Given the description of an element on the screen output the (x, y) to click on. 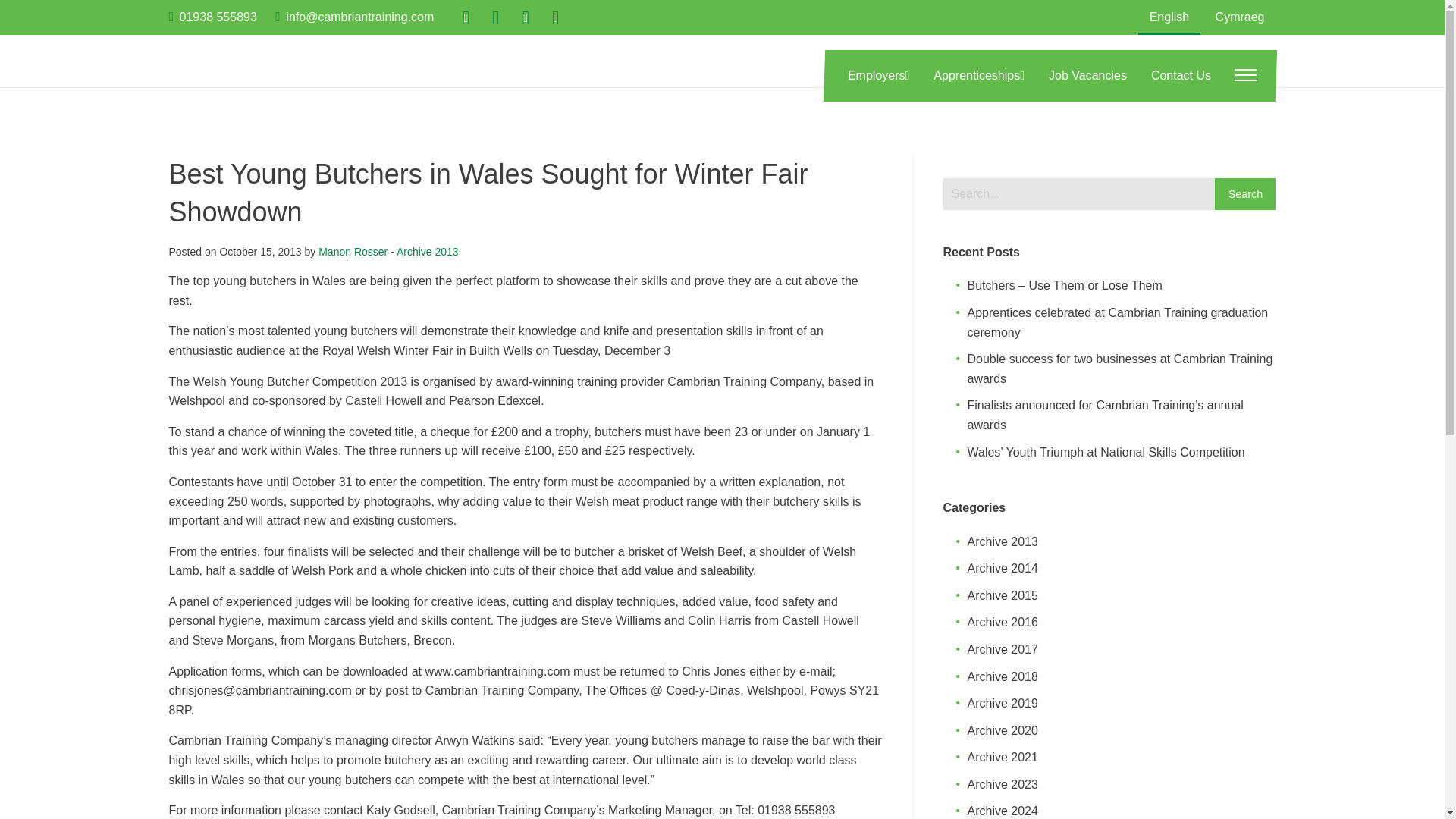
01938 555893 (218, 16)
Job Vacancies (1087, 75)
Search (1244, 193)
English (1168, 18)
Search for: (1079, 193)
Posts by Manon Rosser (352, 251)
Employers (878, 75)
Contact Us (1180, 75)
Search (1244, 193)
Cymraeg (1240, 16)
